Given the description of an element on the screen output the (x, y) to click on. 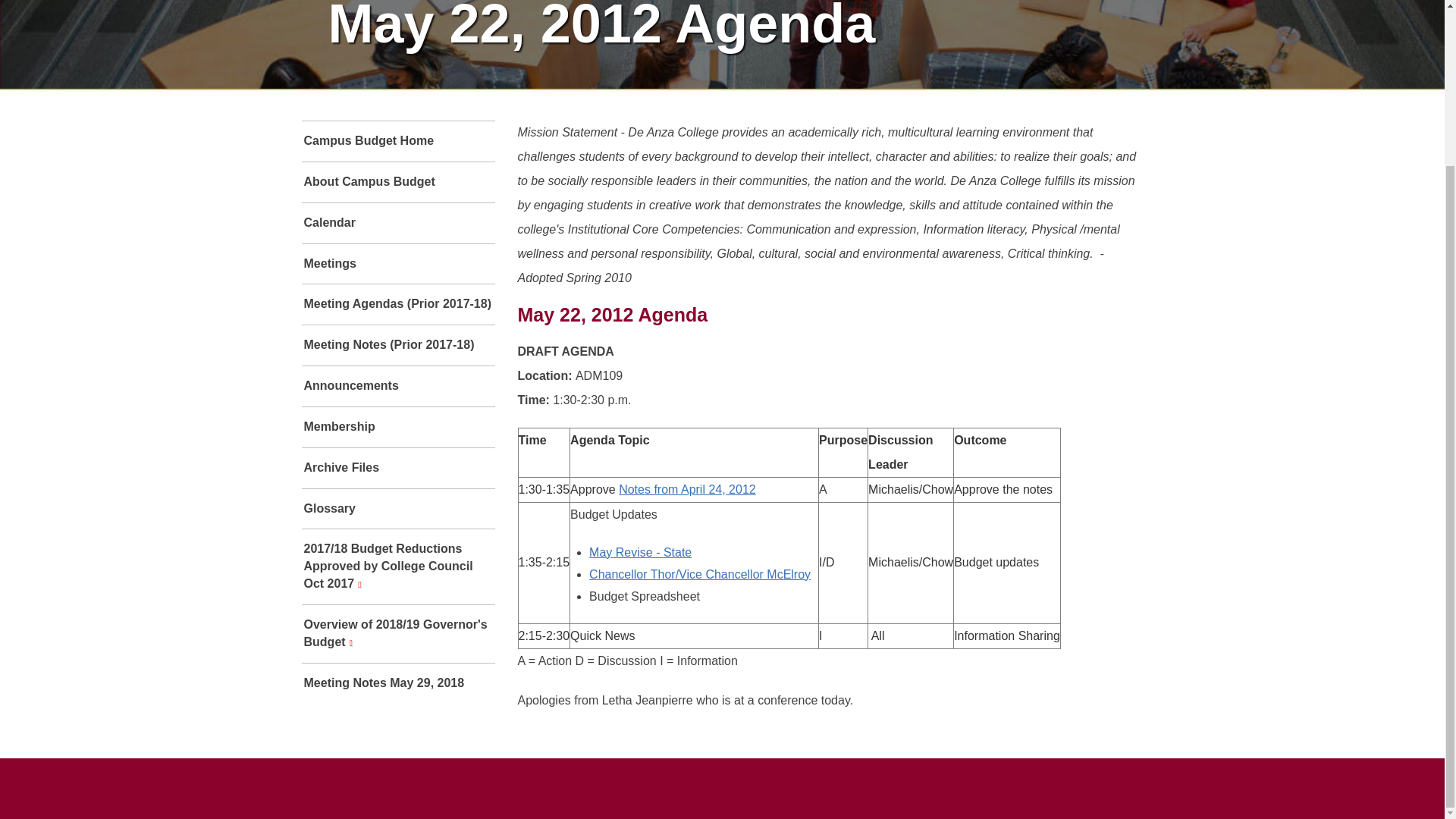
Meetings (398, 264)
Glossary (398, 508)
Announcements (398, 386)
Campus Budget Home (398, 141)
Archive Files (398, 467)
Meeting Notes May 29, 2018 (398, 683)
Campus Budget Calendar (398, 223)
Campus Budget Meeting Notes (398, 345)
Campus Budget Meeting Agendas (398, 304)
Campus Budget Announcements (398, 386)
